Given the description of an element on the screen output the (x, y) to click on. 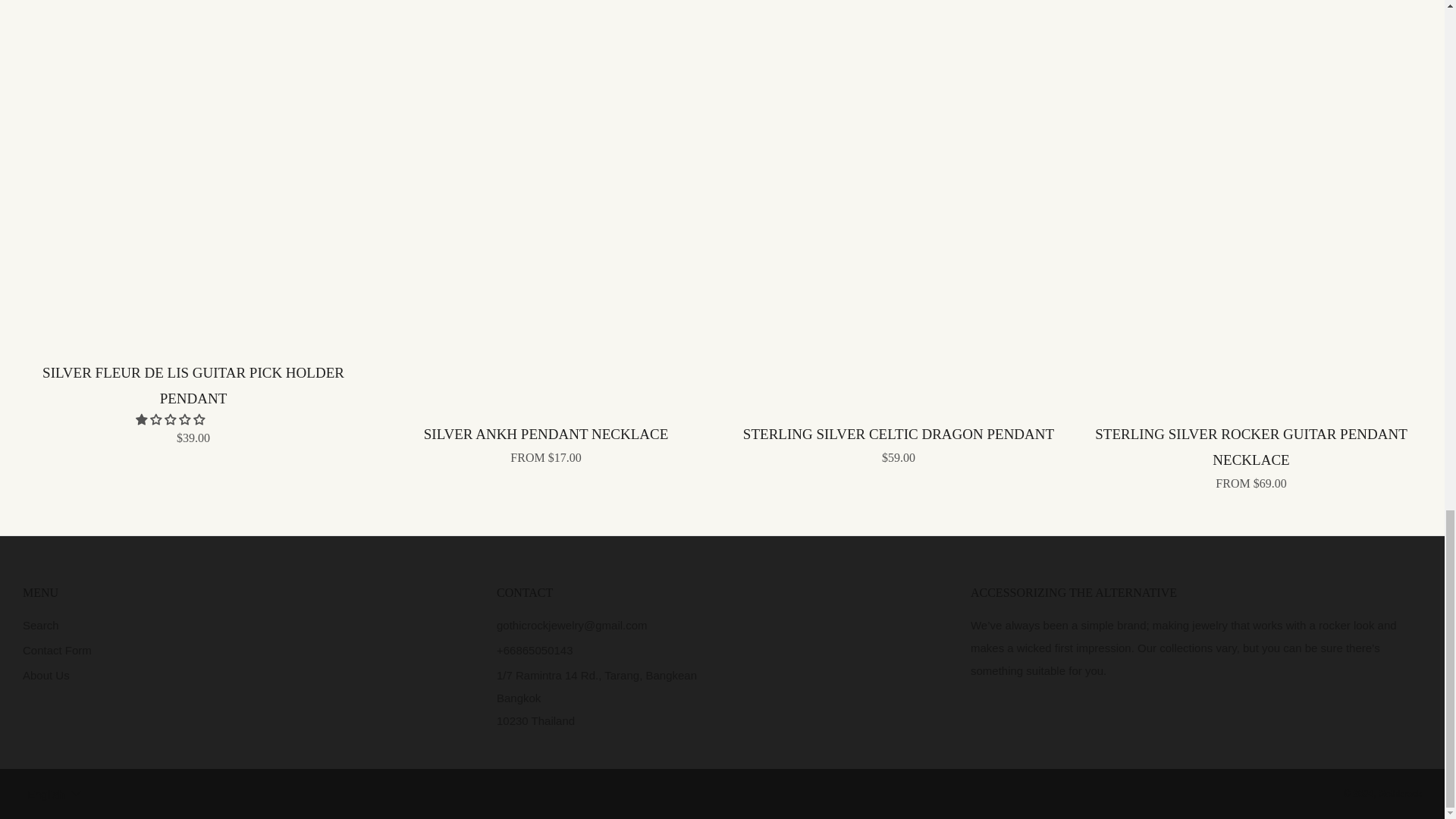
Silver Fleur De Lis Guitar Pick Holder Pendant (193, 402)
Silver Ankh Pendant Necklace (545, 442)
Sterling Silver Celtic Dragon Pendant (898, 442)
Sterling Silver Rocker Guitar Pendant Necklace (1251, 455)
